Given the description of an element on the screen output the (x, y) to click on. 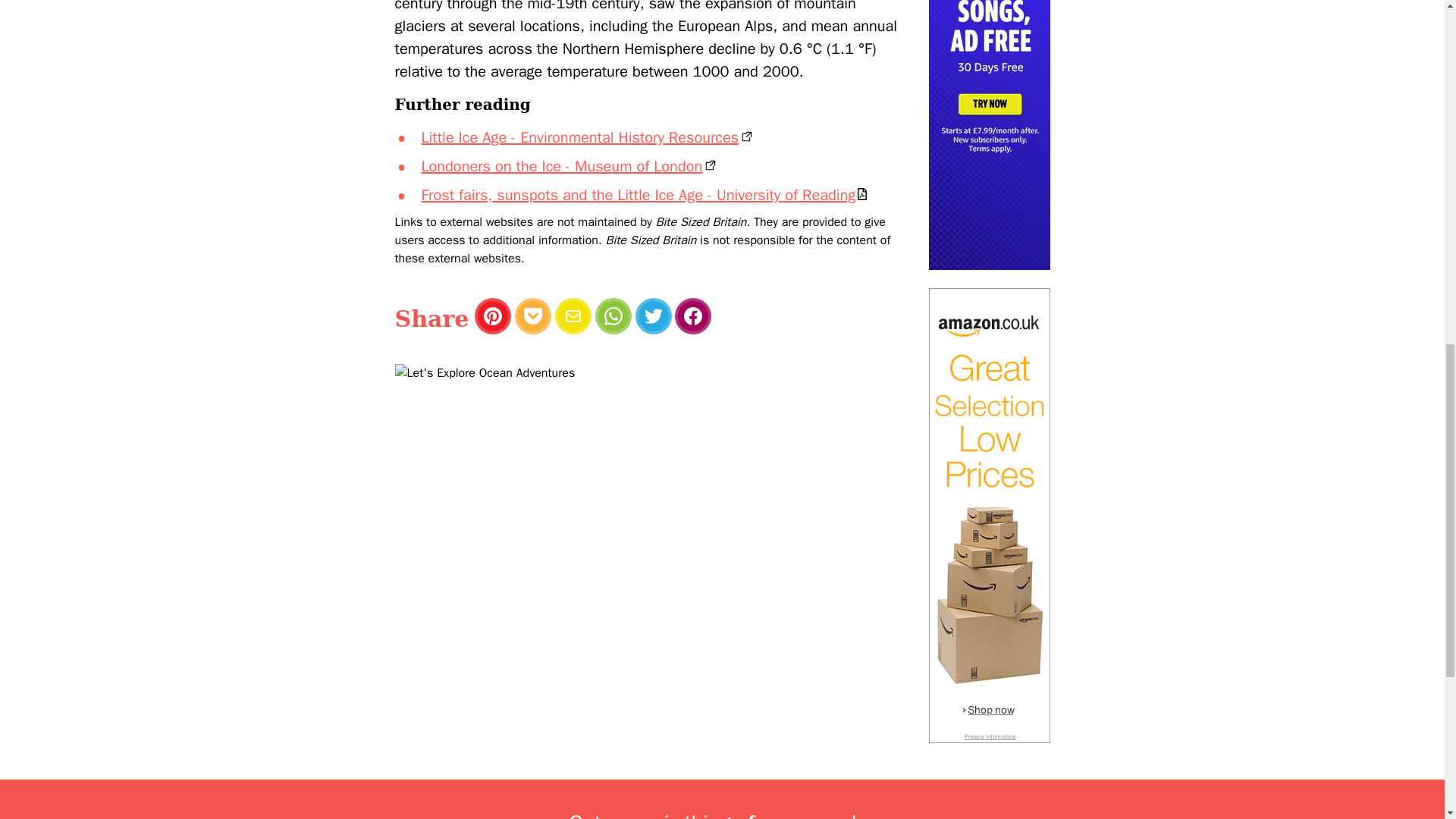
Pocket (533, 316)
Email (572, 316)
Little Ice Age - Environmental History Resources (588, 137)
Facebook (693, 316)
Pinterest (492, 316)
WhatsApp (613, 316)
Londoners on the Ice - Museum of London (569, 166)
Twitter (652, 316)
